Given the description of an element on the screen output the (x, y) to click on. 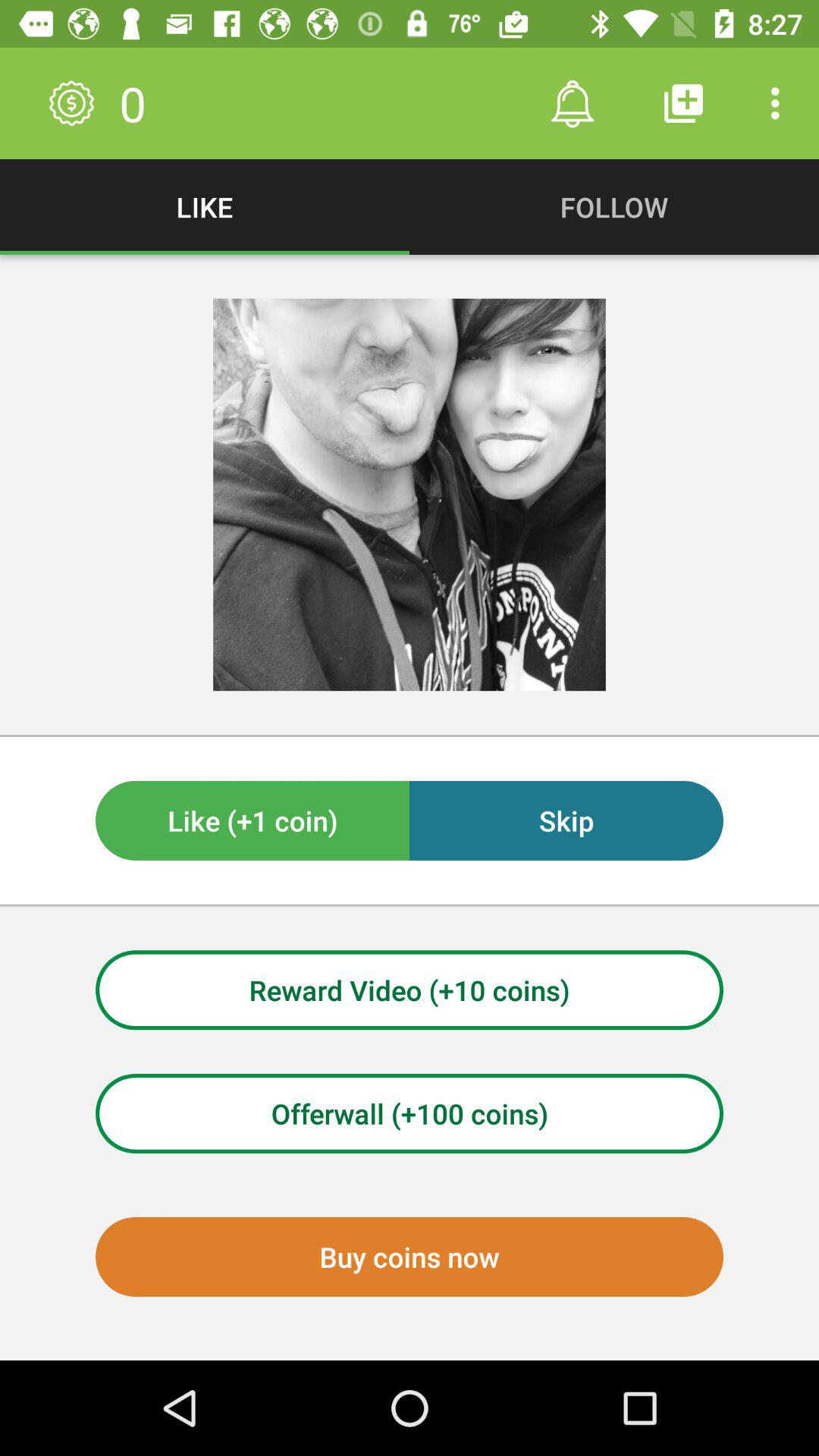
flip until skip item (566, 820)
